Given the description of an element on the screen output the (x, y) to click on. 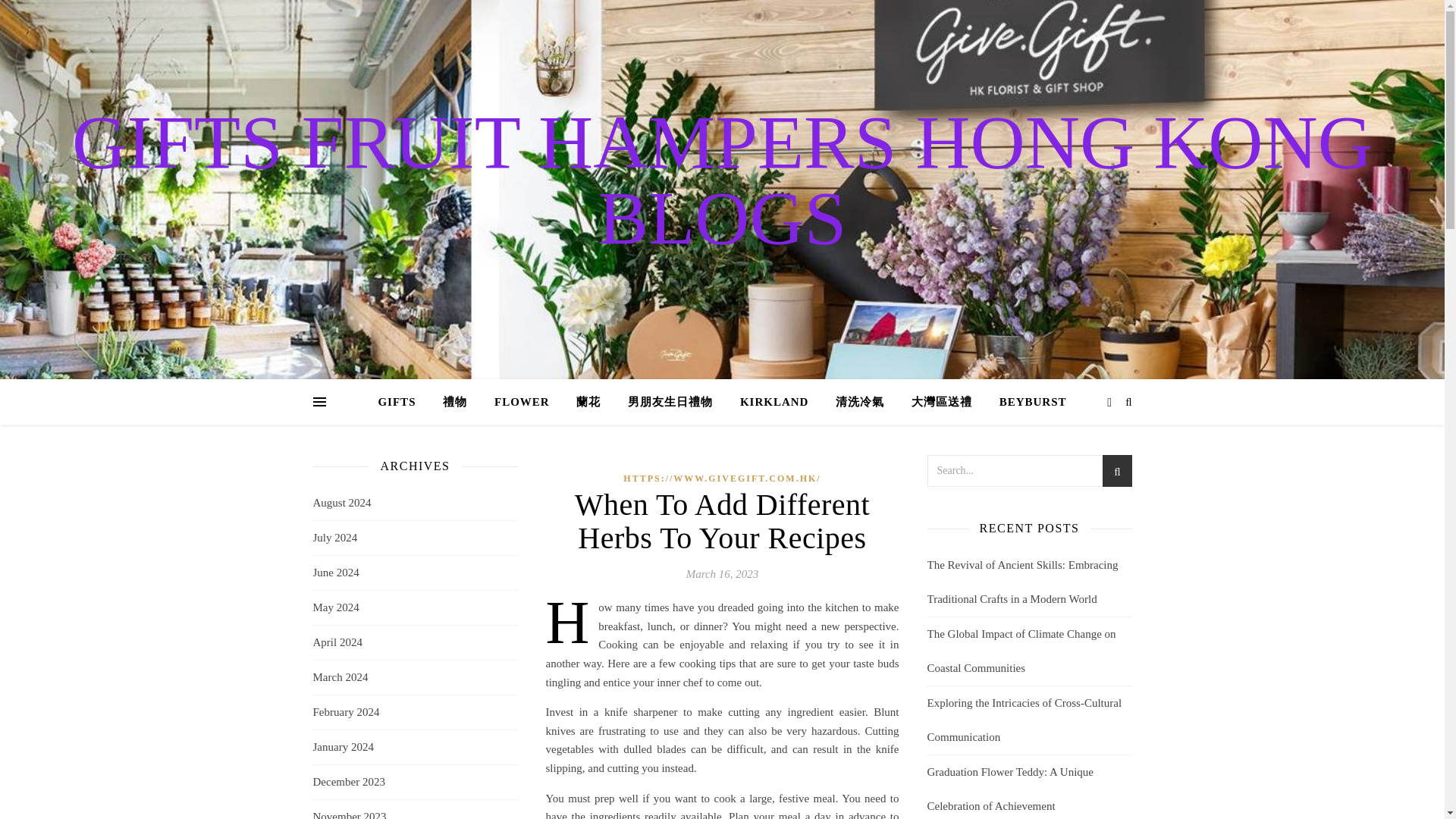
March 2024 (340, 677)
August 2024 (342, 503)
January 2024 (342, 747)
December 2023 (348, 781)
June 2024 (335, 572)
FLOWER (521, 402)
November 2023 (349, 809)
BEYBURST (1027, 402)
GIFTS (402, 402)
May 2024 (335, 607)
